Given the description of an element on the screen output the (x, y) to click on. 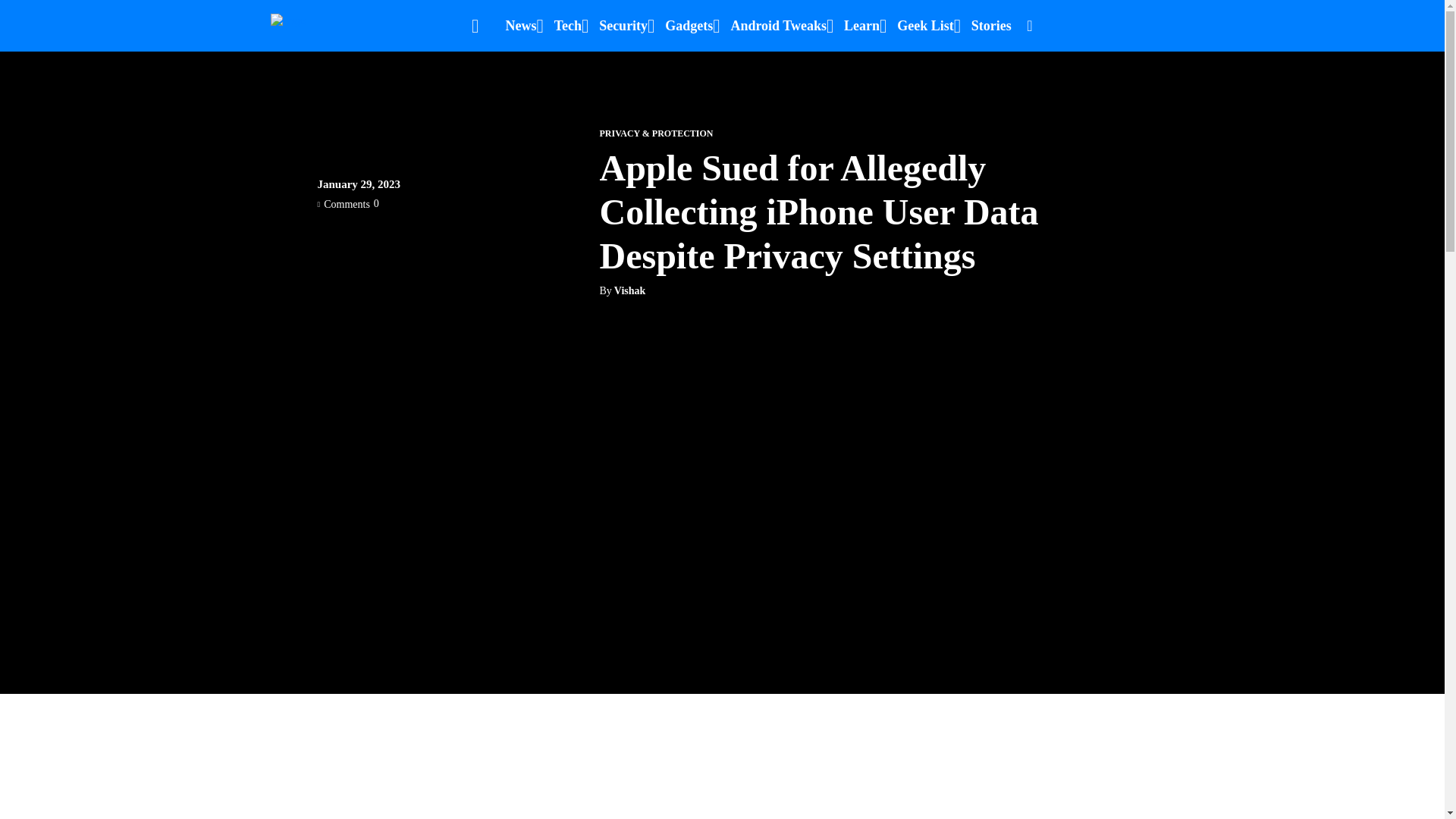
Gadgets (689, 25)
Geek List (924, 25)
Learn (861, 25)
Comments0 (347, 203)
Stories (991, 25)
Vishak (630, 291)
Android Tweaks (778, 25)
Security (622, 25)
Advertisement (721, 806)
